Given the description of an element on the screen output the (x, y) to click on. 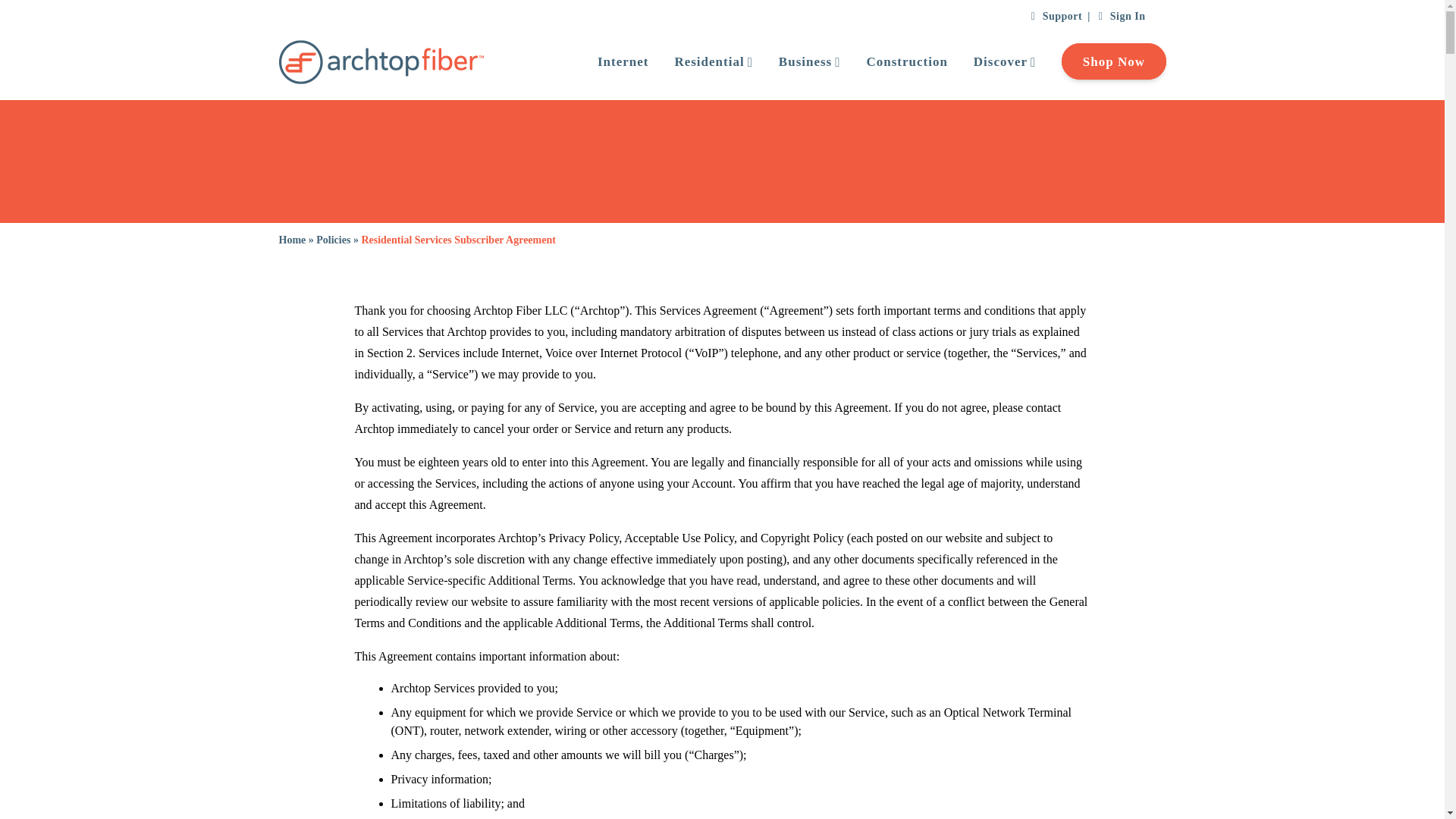
Construction (893, 61)
Discover (991, 61)
Policies (332, 239)
Sign In (1120, 16)
Support (1055, 16)
Home (292, 239)
Residential (699, 61)
Business (796, 61)
Shop Now (1100, 61)
